Given the description of an element on the screen output the (x, y) to click on. 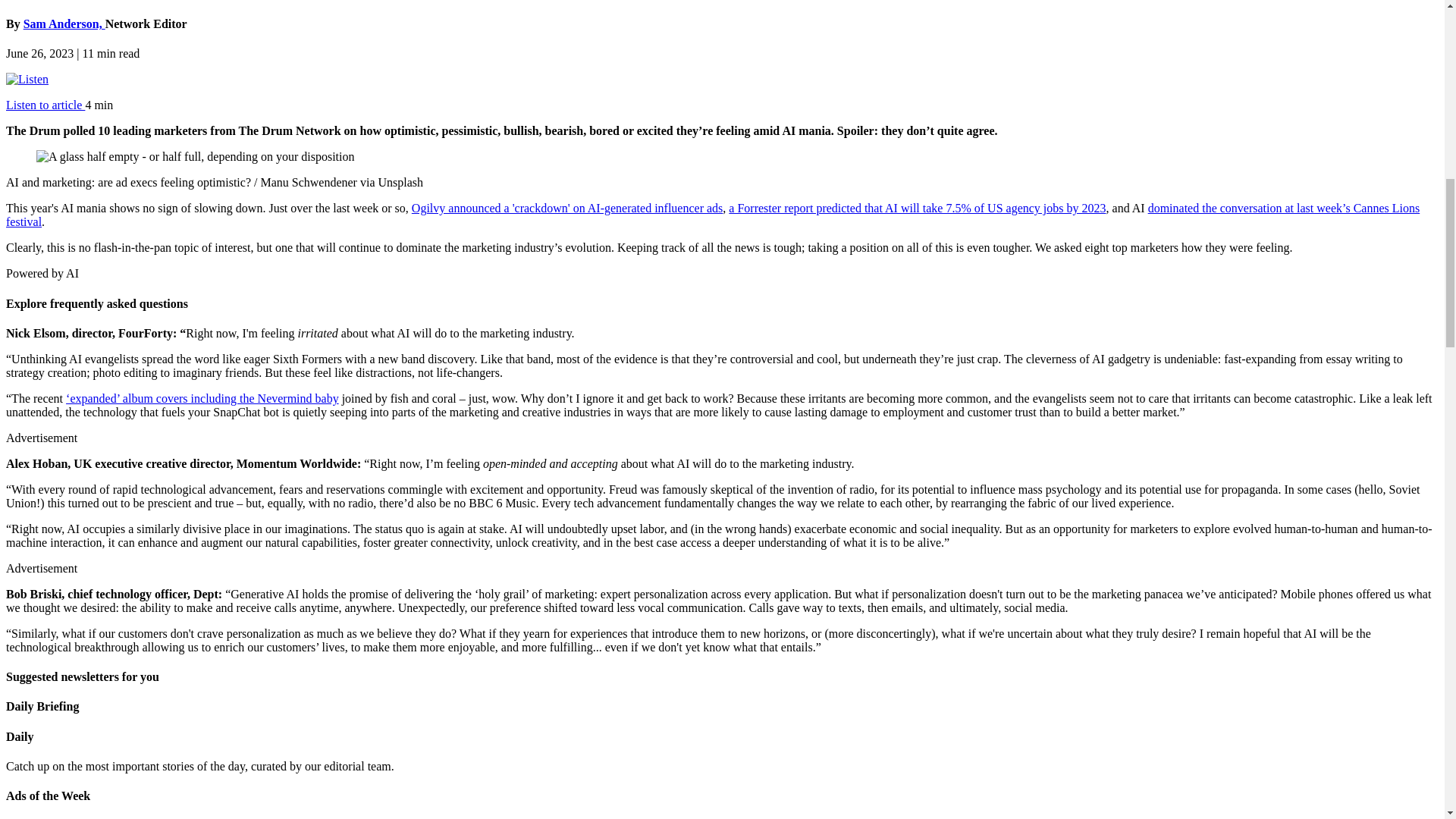
Sam Anderson, (63, 23)
Listen to article (44, 104)
